Given the description of an element on the screen output the (x, y) to click on. 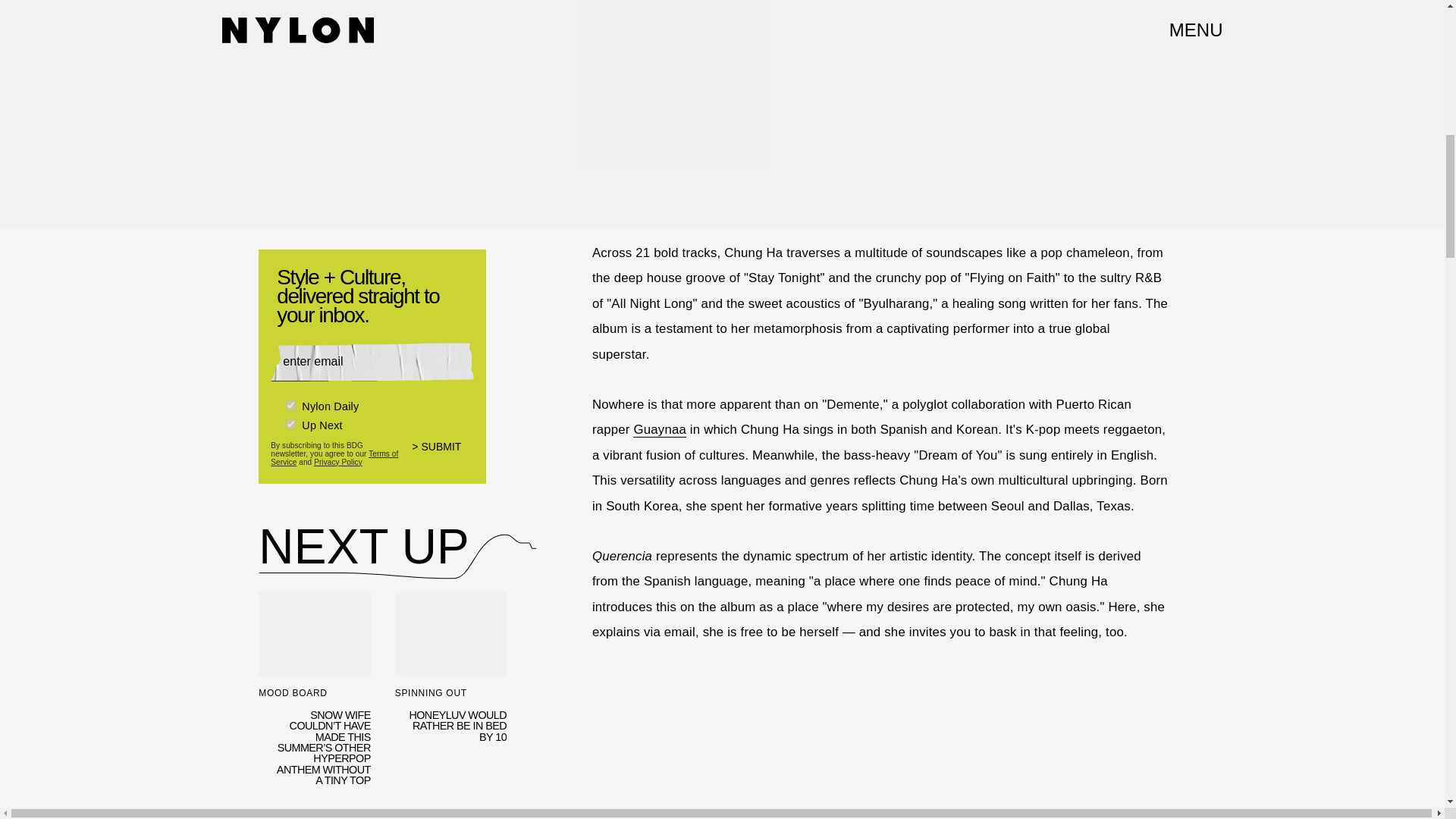
Privacy Policy (338, 461)
Guaynaa (659, 429)
Terms of Service (333, 457)
SUBMIT (443, 456)
